Given the description of an element on the screen output the (x, y) to click on. 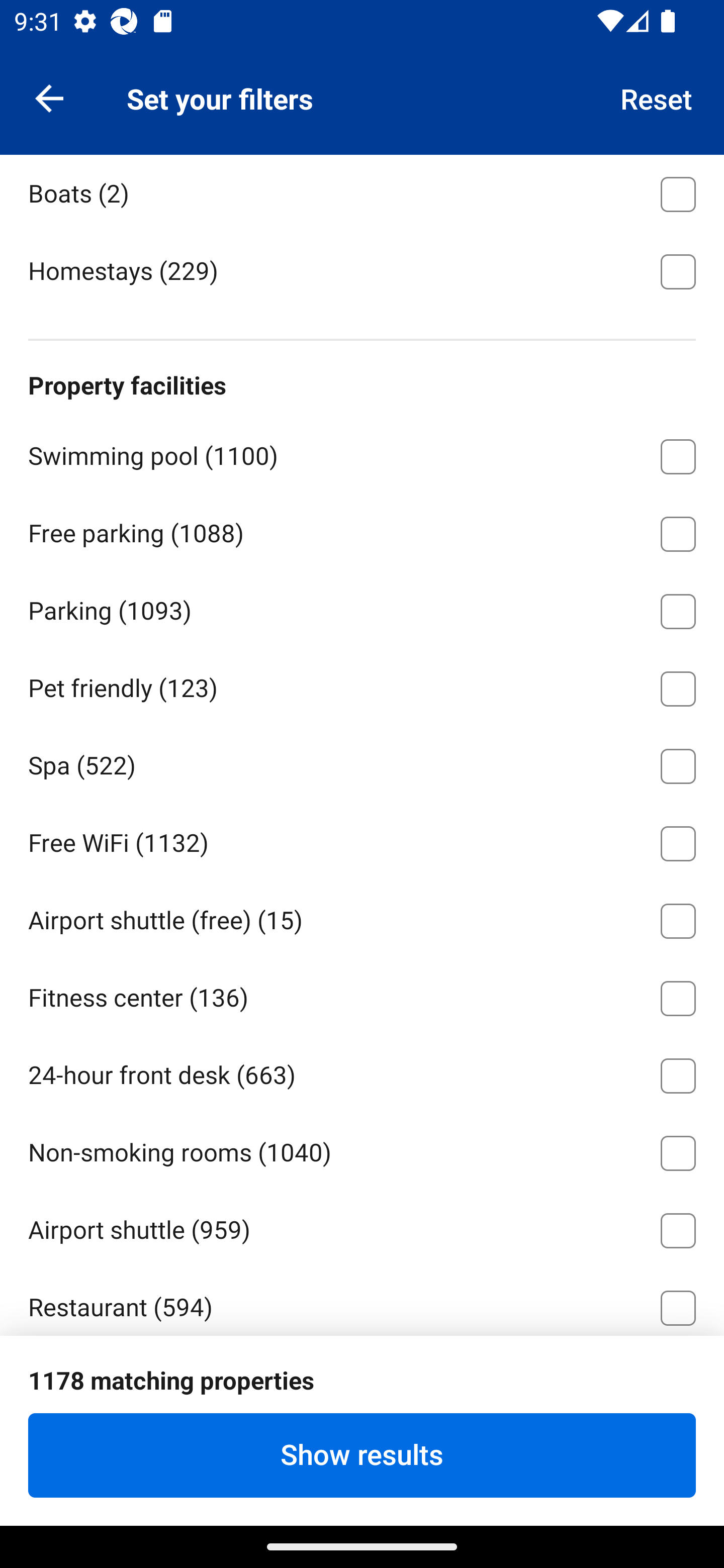
Navigate up (49, 97)
Reset (656, 97)
Luxury tents ⁦(31) (361, 113)
Boats ⁦(2) (361, 191)
Homestays ⁦(229) (361, 269)
Swimming pool ⁦(1100) (361, 452)
Free parking ⁦(1088) (361, 530)
Parking ⁦(1093) (361, 607)
Pet friendly ⁦(123) (361, 685)
Spa ⁦(522) (361, 762)
Free WiFi ⁦(1132) (361, 840)
Airport shuttle (free) ⁦(15) (361, 917)
Fitness center ⁦(136) (361, 994)
24-hour front desk ⁦(663) (361, 1072)
Non-smoking rooms ⁦(1040) (361, 1149)
Airport shuttle ⁦(959) (361, 1226)
Restaurant ⁦(594) (361, 1300)
Family rooms ⁦(632) (361, 1381)
Show results (361, 1454)
